Given the description of an element on the screen output the (x, y) to click on. 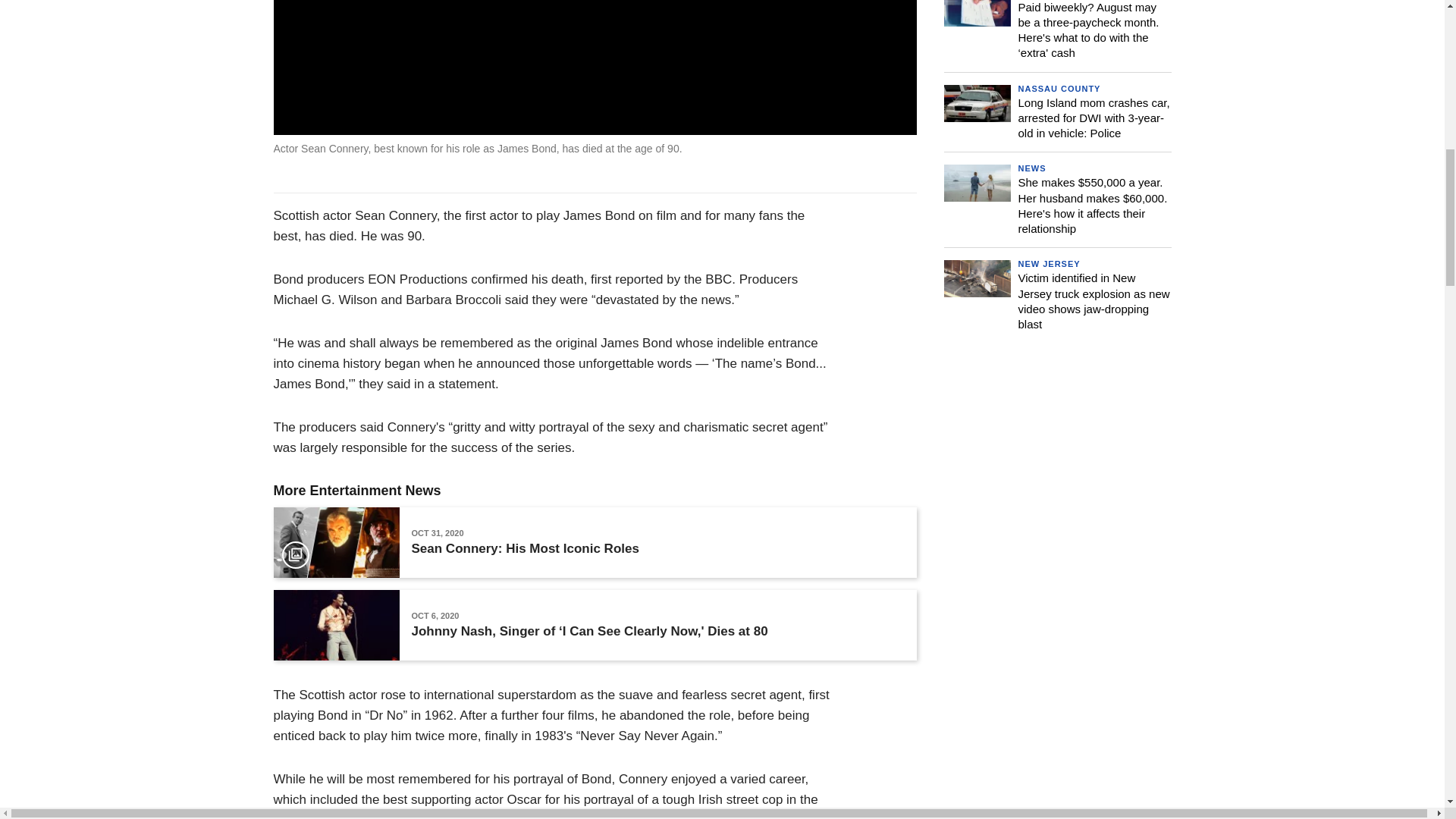
Sean Connery: His Most Iconic Roles (524, 548)
